Given the description of an element on the screen output the (x, y) to click on. 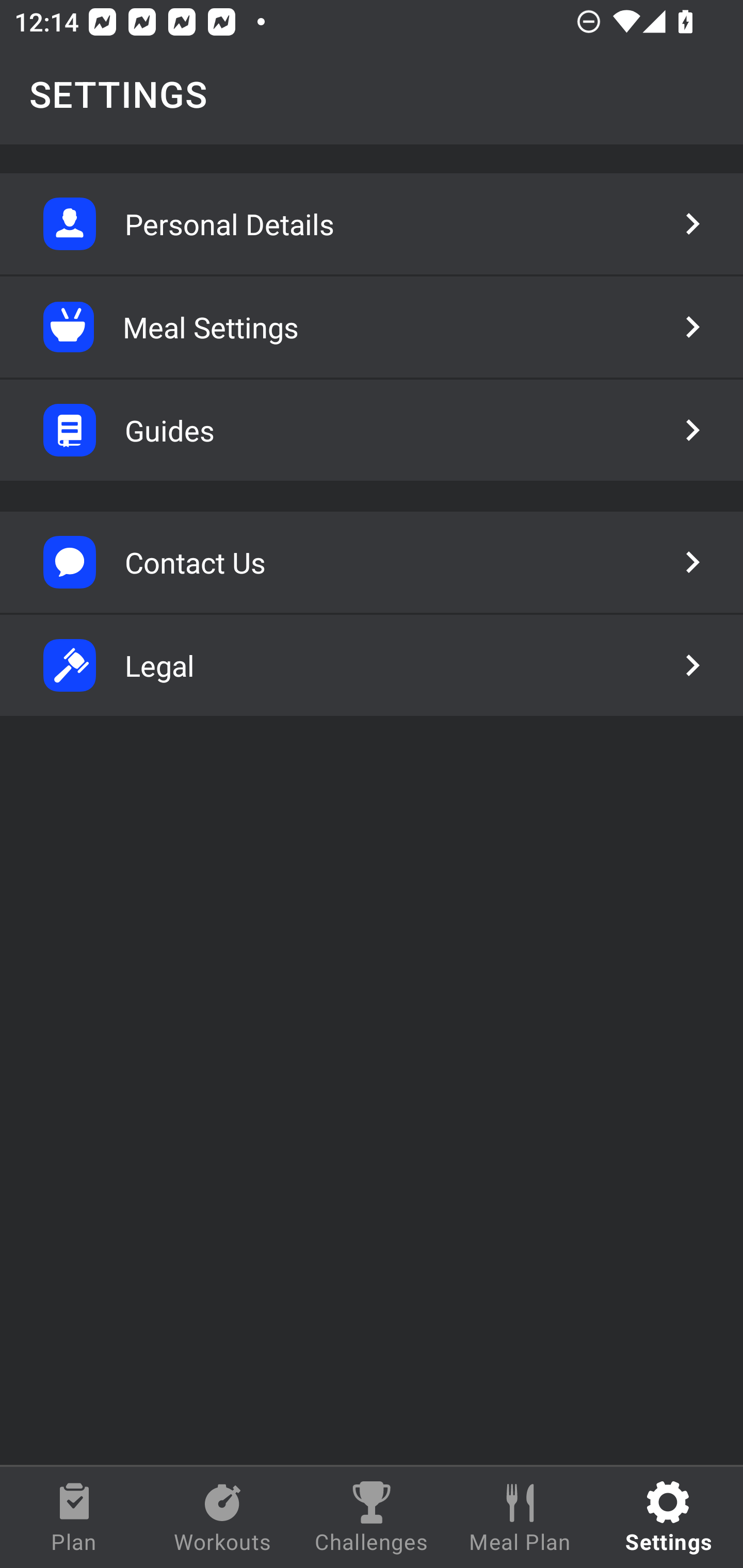
Personal Details (371, 224)
Meal Settings (371, 326)
Guides (371, 430)
Contact Us (371, 562)
Legal (371, 665)
 Plan  (74, 1517)
 Workouts  (222, 1517)
 Challenges  (371, 1517)
 Meal Plan  (519, 1517)
